Given the description of an element on the screen output the (x, y) to click on. 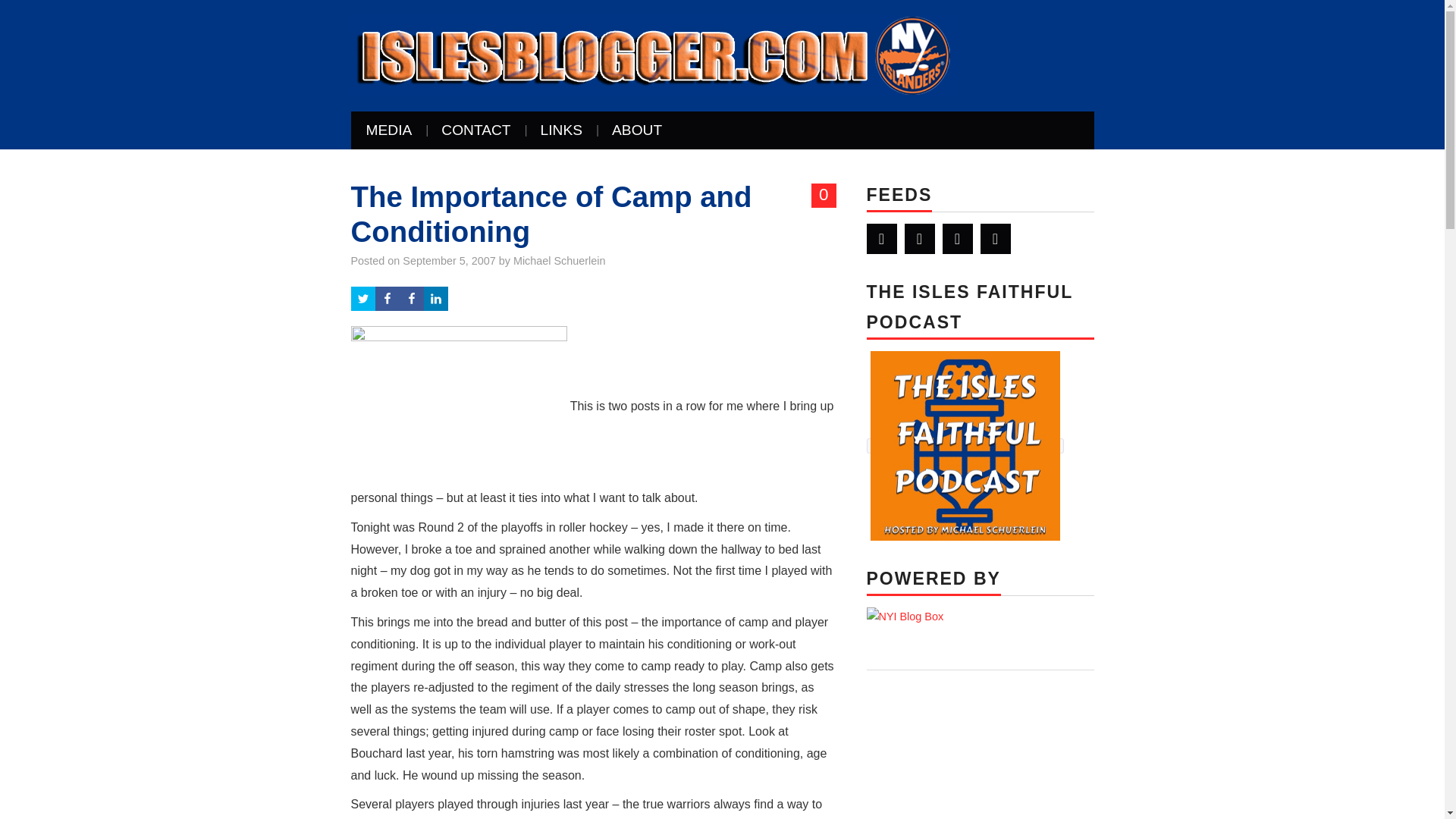
Share on Twitter (362, 298)
CONTACT (475, 130)
0 (822, 195)
Twitter (881, 238)
ABOUT (636, 130)
September 5, 2007 (449, 260)
YouTube (957, 238)
LINKS (560, 130)
8:32 pm (449, 260)
Share on LinkedIn (434, 298)
